Given the description of an element on the screen output the (x, y) to click on. 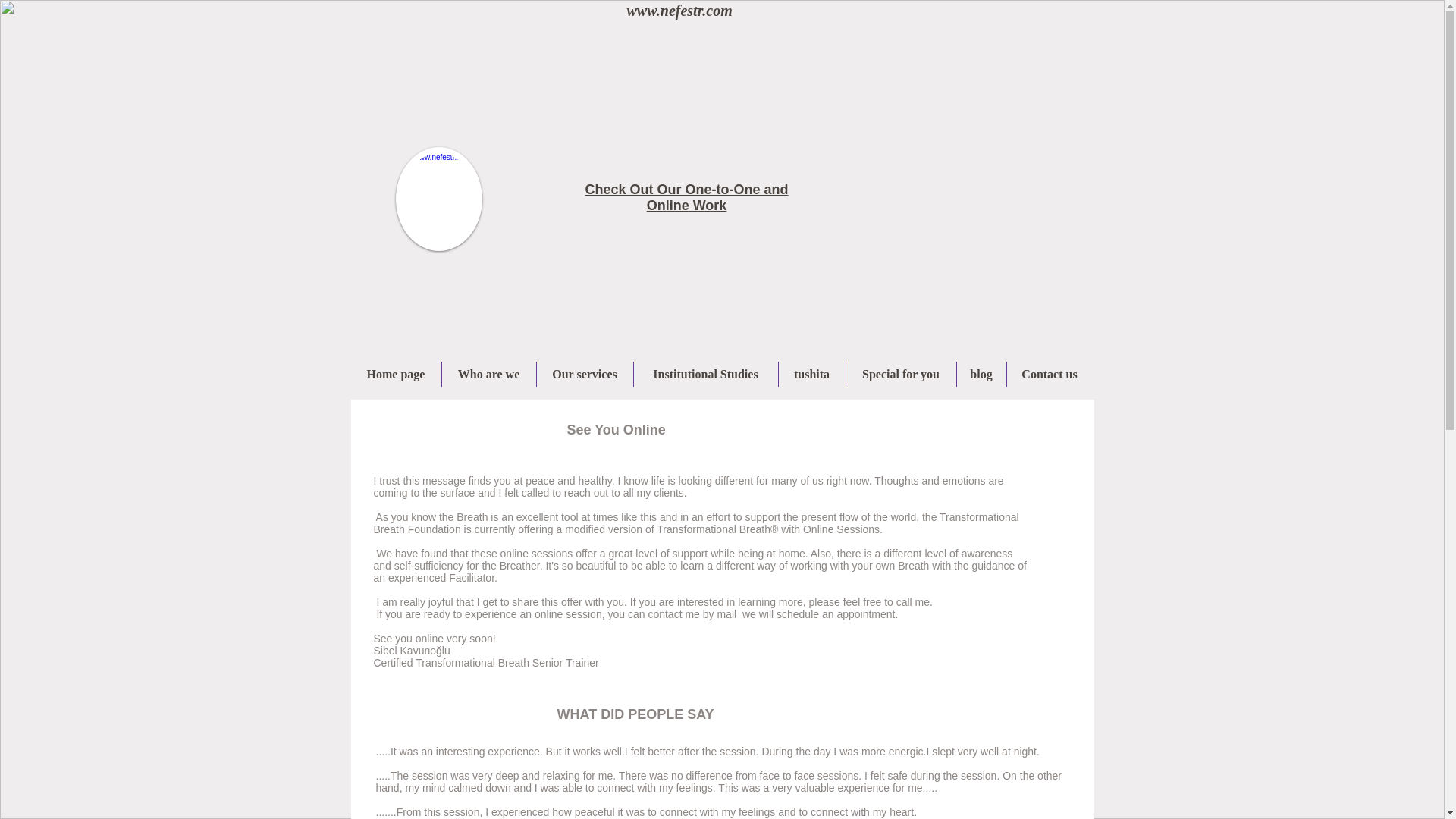
Contact us (1050, 373)
tushita (810, 373)
Institutional Studies (705, 373)
blog (981, 373)
Check Out Our One-to-One and Online Work (686, 196)
Special for you (900, 373)
Home page (395, 373)
www.nefestr.com (679, 10)
Our services (585, 373)
Who are we (488, 373)
